Given the description of an element on the screen output the (x, y) to click on. 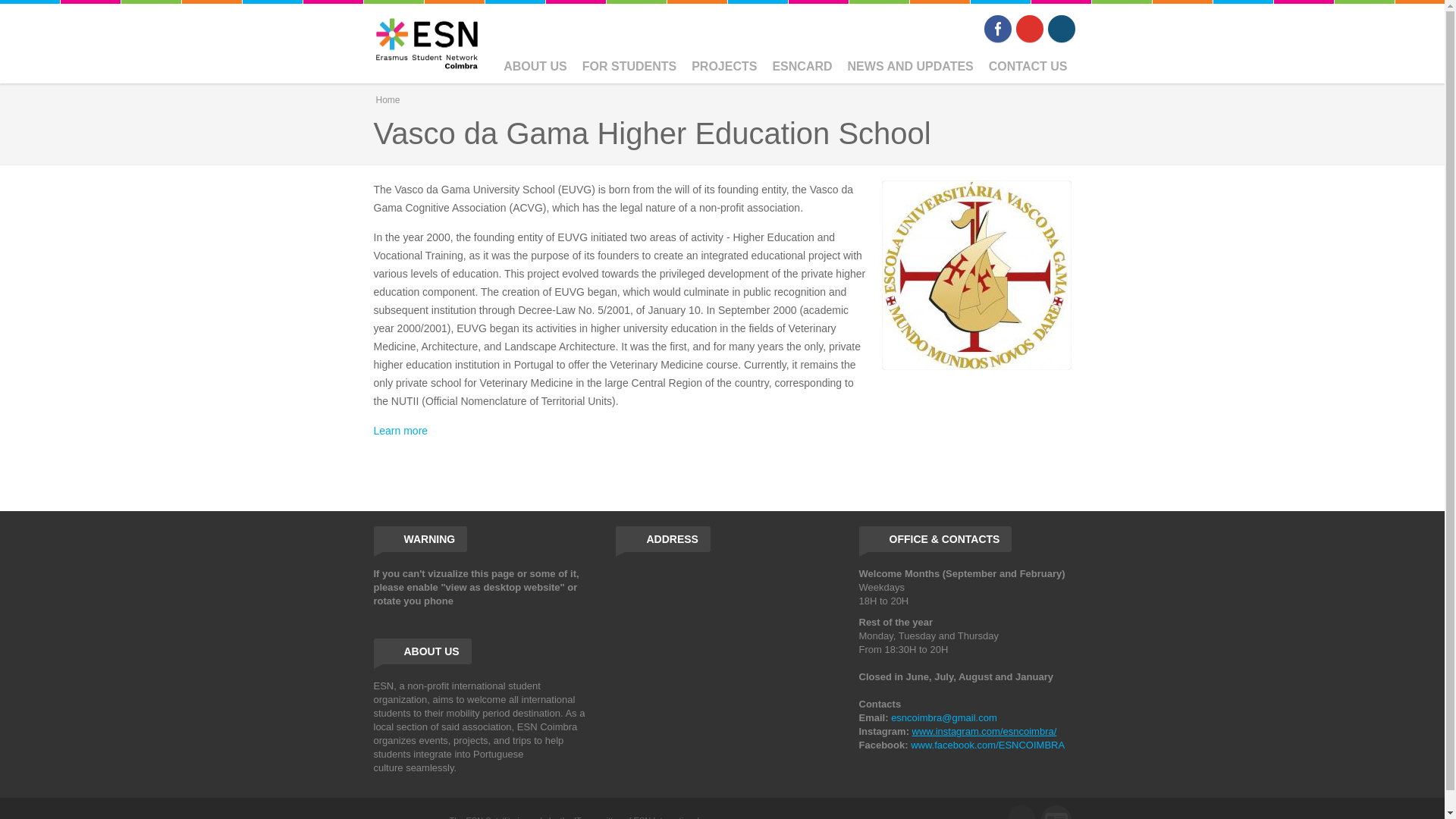
ABOUT US (535, 66)
Home (426, 43)
